Given the description of an element on the screen output the (x, y) to click on. 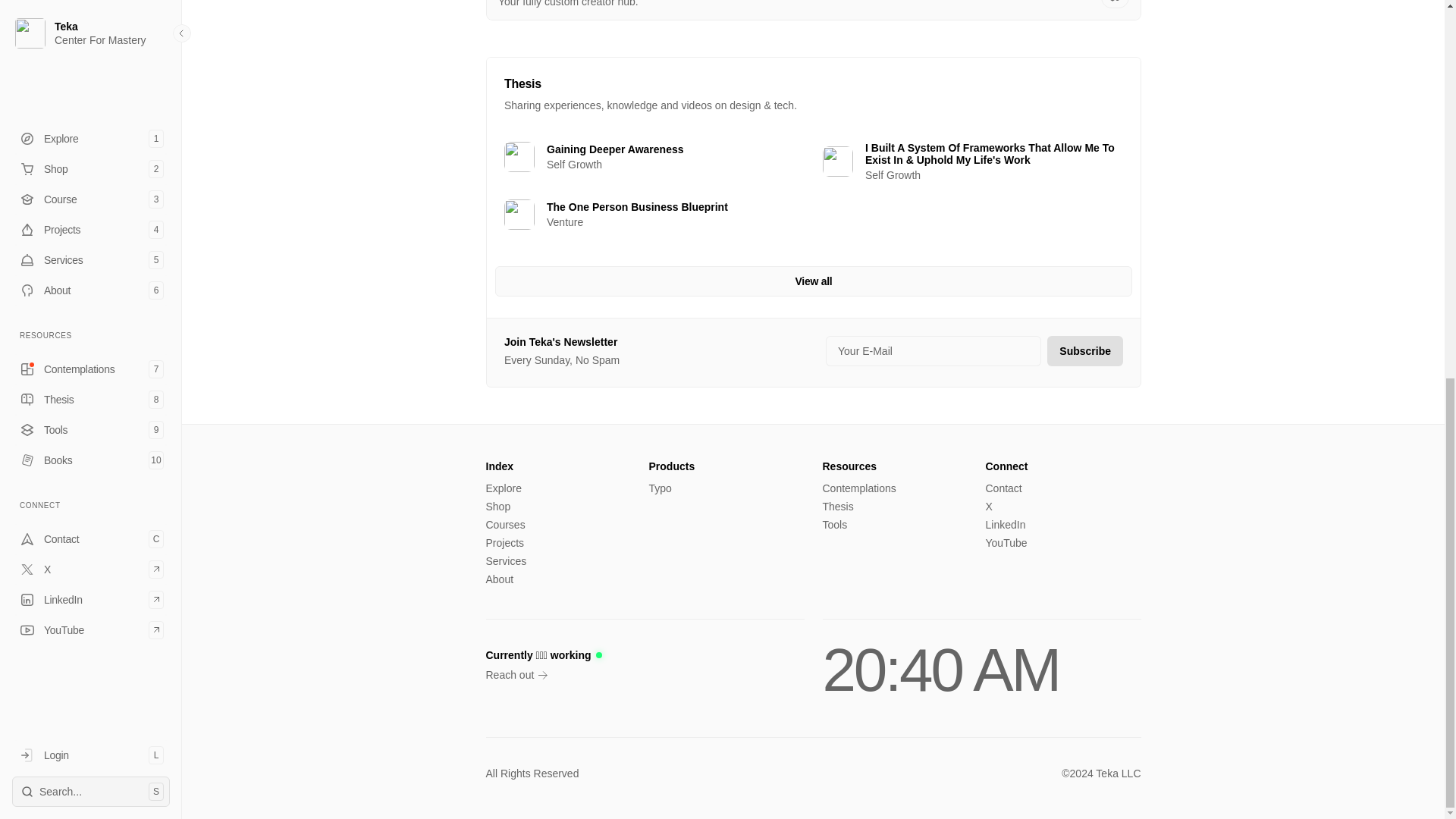
Subscribe (1084, 350)
Explore (653, 156)
View all (502, 488)
Courses (813, 281)
Shop (90, 53)
Projects (504, 524)
Subscribe (497, 506)
